Given the description of an element on the screen output the (x, y) to click on. 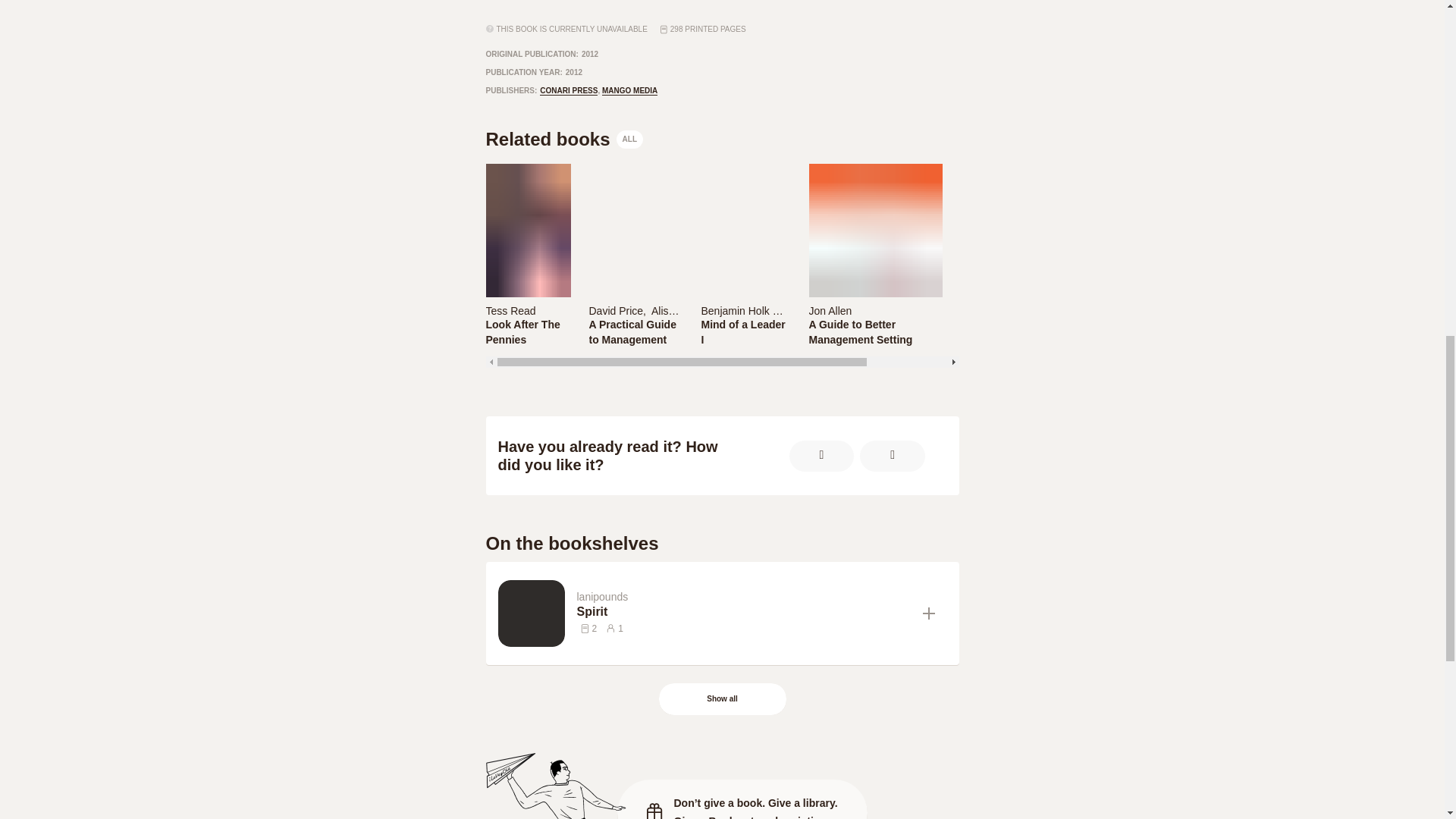
Benjamin Holk Henriksen (744, 309)
A Practical Guide to Management (634, 331)
MANGO MEDIA (630, 90)
Samuel River (1000, 309)
David Price (563, 139)
Look After The Pennies (615, 310)
Jon Allen (526, 331)
Alison Price (829, 310)
